Given the description of an element on the screen output the (x, y) to click on. 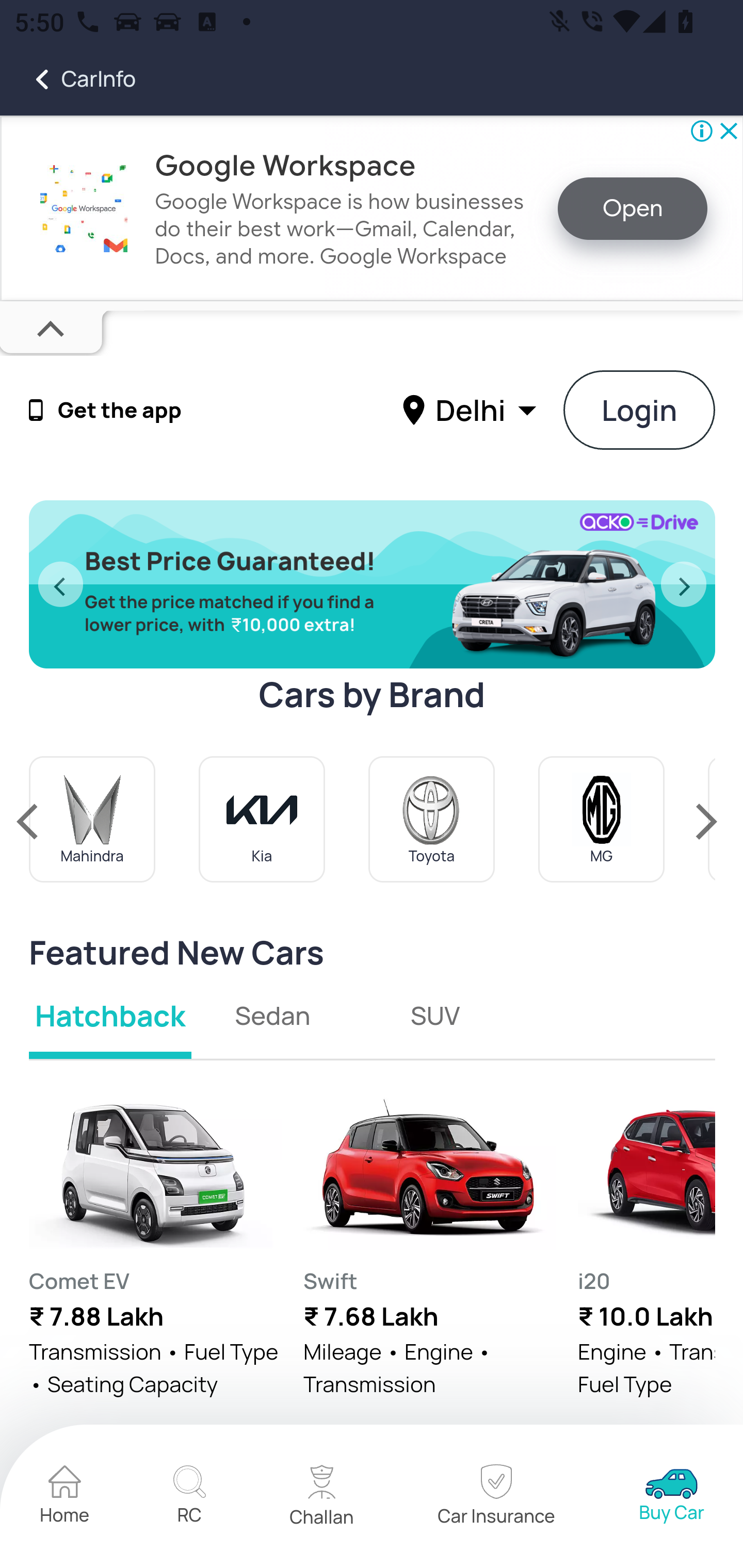
CarInfo (67, 79)
Google Workspace (284, 164)
Google Workspace (83, 208)
Open (632, 209)
Login (639, 409)
Delhi (471, 408)
Get the app (119, 410)
Previous (60, 584)
Next (684, 584)
Mahindra Mahindra Mahindra Mahindra (92, 819)
Kia Kia Kia Kia (262, 819)
Toyota Toyota Toyota Toyota (431, 819)
MG MG MG MG (601, 819)
Hatchback (110, 1014)
Sedan (273, 1014)
SUV (434, 1014)
home Challan home Challan (322, 1496)
home Home home Home (64, 1496)
home RC home RC (189, 1496)
home Car Insurance home Car Insurance (496, 1497)
home Buy Car home Buy Car (671, 1497)
